Given the description of an element on the screen output the (x, y) to click on. 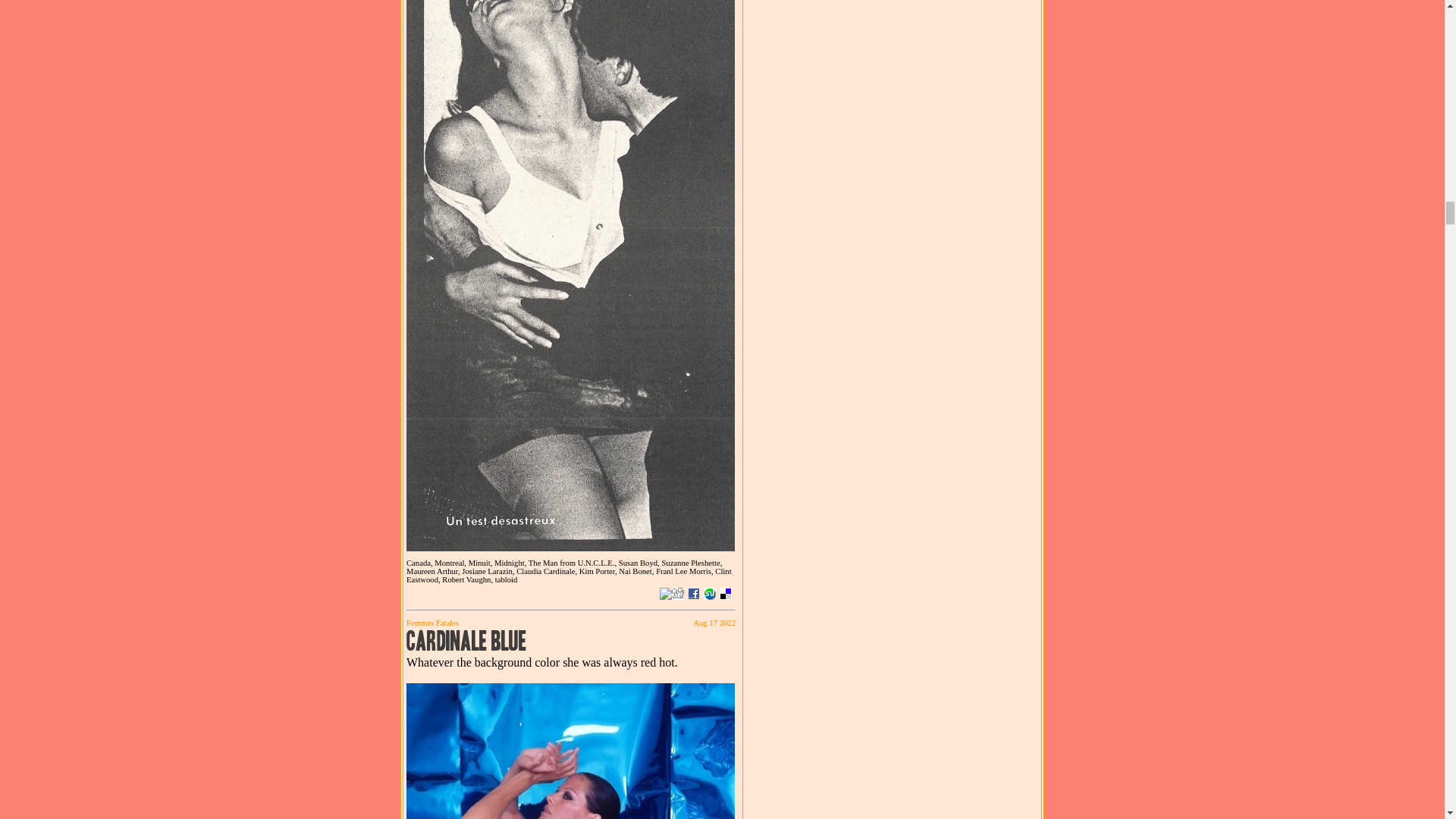
Bookmark this on Delicious (725, 593)
StumbleUpon:Scans from Minuit tabloid published October 1968 (709, 593)
Share this on Facebook (693, 593)
digg:Scans from Minuit tabloid published October 1968 (677, 593)
